Given the description of an element on the screen output the (x, y) to click on. 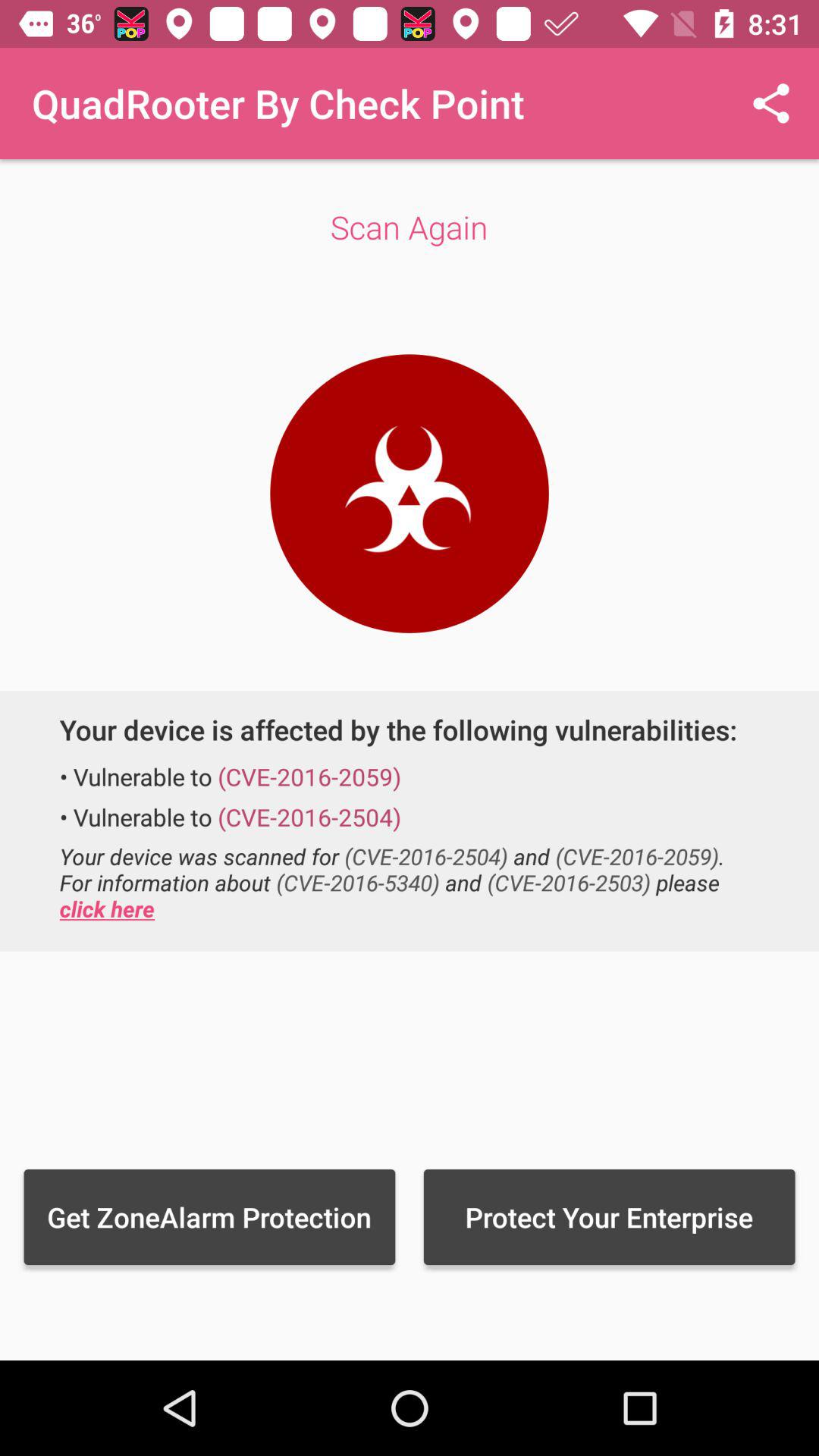
turn on the icon next to the get zonealarm protection item (609, 1216)
